Given the description of an element on the screen output the (x, y) to click on. 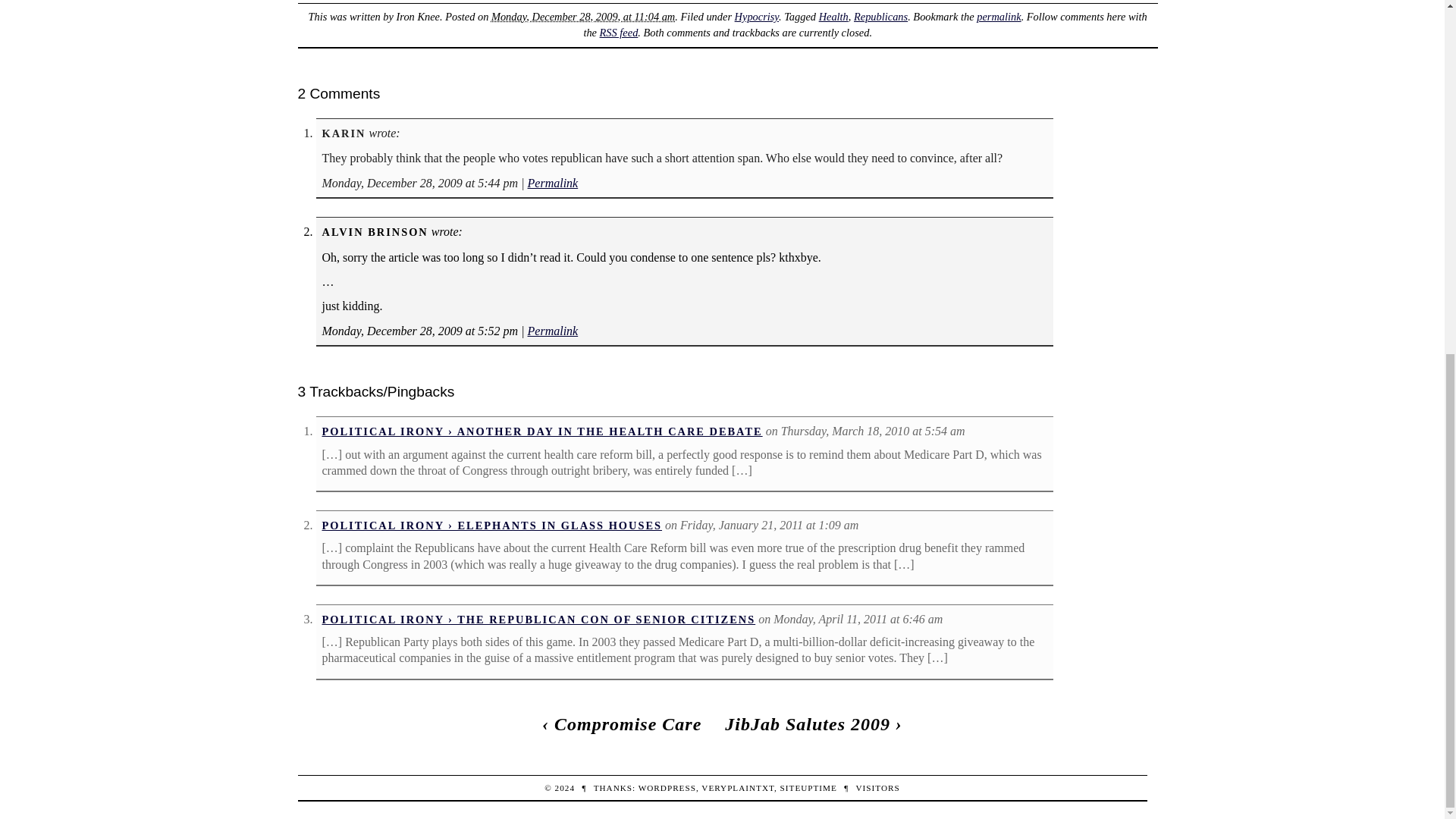
Permalink (552, 182)
Compromise Care (627, 723)
permalink (998, 16)
Permalink to this comment (552, 330)
Permalink to this comment (552, 182)
Health (833, 16)
2009-12-28T11:04:47-0600 (583, 16)
RSS feed (619, 32)
Permalink (552, 330)
JibJab Salutes 2009 (807, 723)
Republicans (880, 16)
Hypocrisy (756, 16)
